Given the description of an element on the screen output the (x, y) to click on. 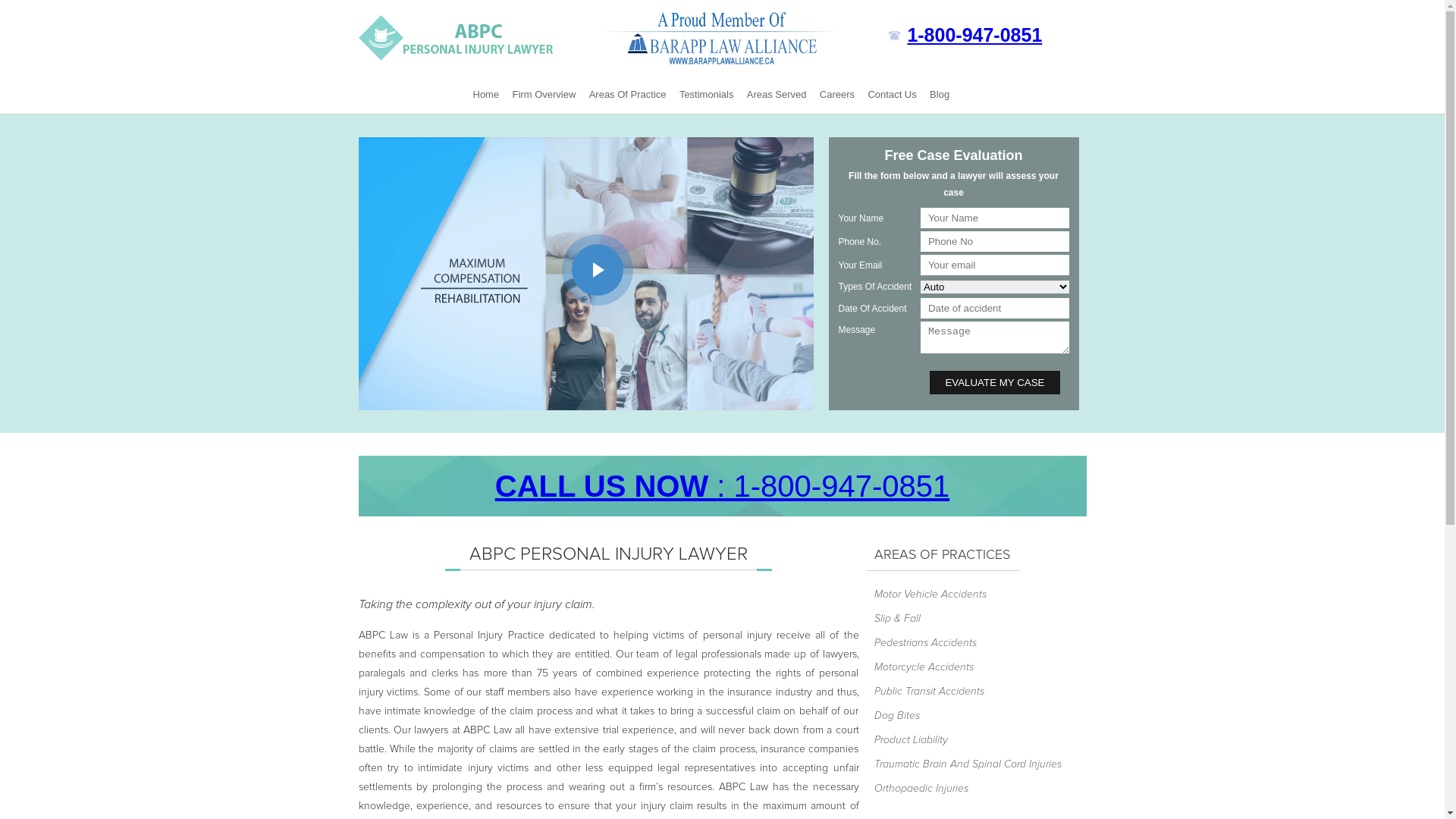
Pedestrians Accidents Element type: text (968, 642)
Home Element type: text (485, 94)
Traumatic Brain And Spinal Cord Injuries Element type: text (968, 764)
Areas Served Element type: text (776, 94)
EVALUATE MY CASE Element type: text (994, 382)
Contact Us Element type: text (891, 94)
Product Liability Element type: text (968, 740)
Firm Overview Element type: text (544, 94)
Dog Bites Element type: text (968, 715)
Slip & Fall Element type: text (968, 618)
Areas Of Practice Element type: text (627, 94)
Testimonials Element type: text (706, 94)
Motorcycle Accidents Element type: text (968, 667)
Careers Element type: text (836, 94)
Public Transit Accidents Element type: text (968, 691)
Orthopaedic Injuries Element type: text (968, 788)
Motor Vehicle Accidents Element type: text (968, 594)
1-800-947-0851 Element type: text (973, 34)
Blog Element type: text (939, 94)
CALL US NOW : 1-800-947-0851 Element type: text (722, 485)
